Given the description of an element on the screen output the (x, y) to click on. 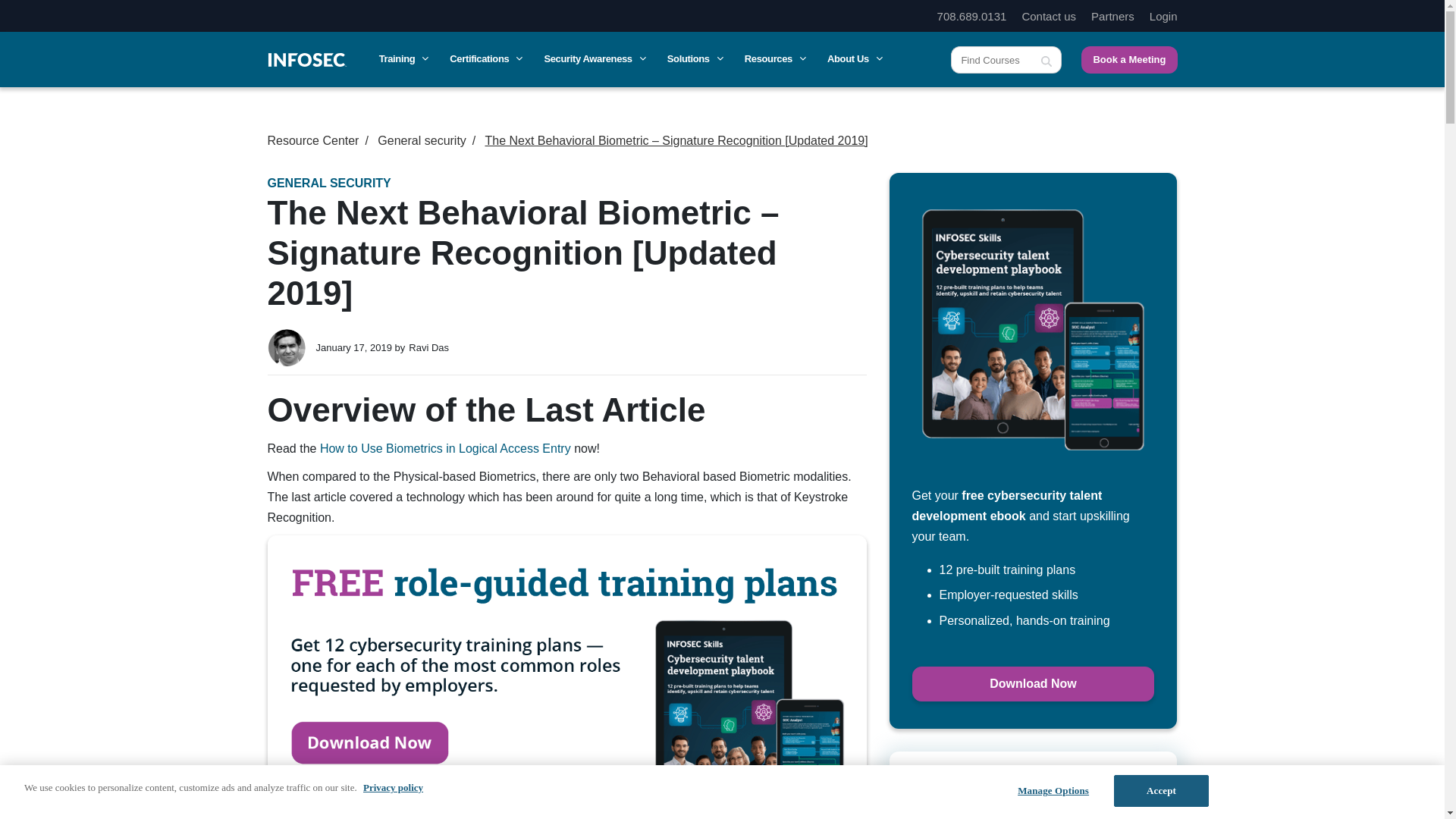
Download Now (1032, 683)
Infosec logo (306, 59)
Partners (1112, 15)
708.689.0131 (972, 15)
708.689.0131 (972, 15)
Contact us (1048, 15)
Book a Meeting (1128, 59)
Contact us (1048, 15)
Training (402, 59)
In this Series (1032, 771)
